Given the description of an element on the screen output the (x, y) to click on. 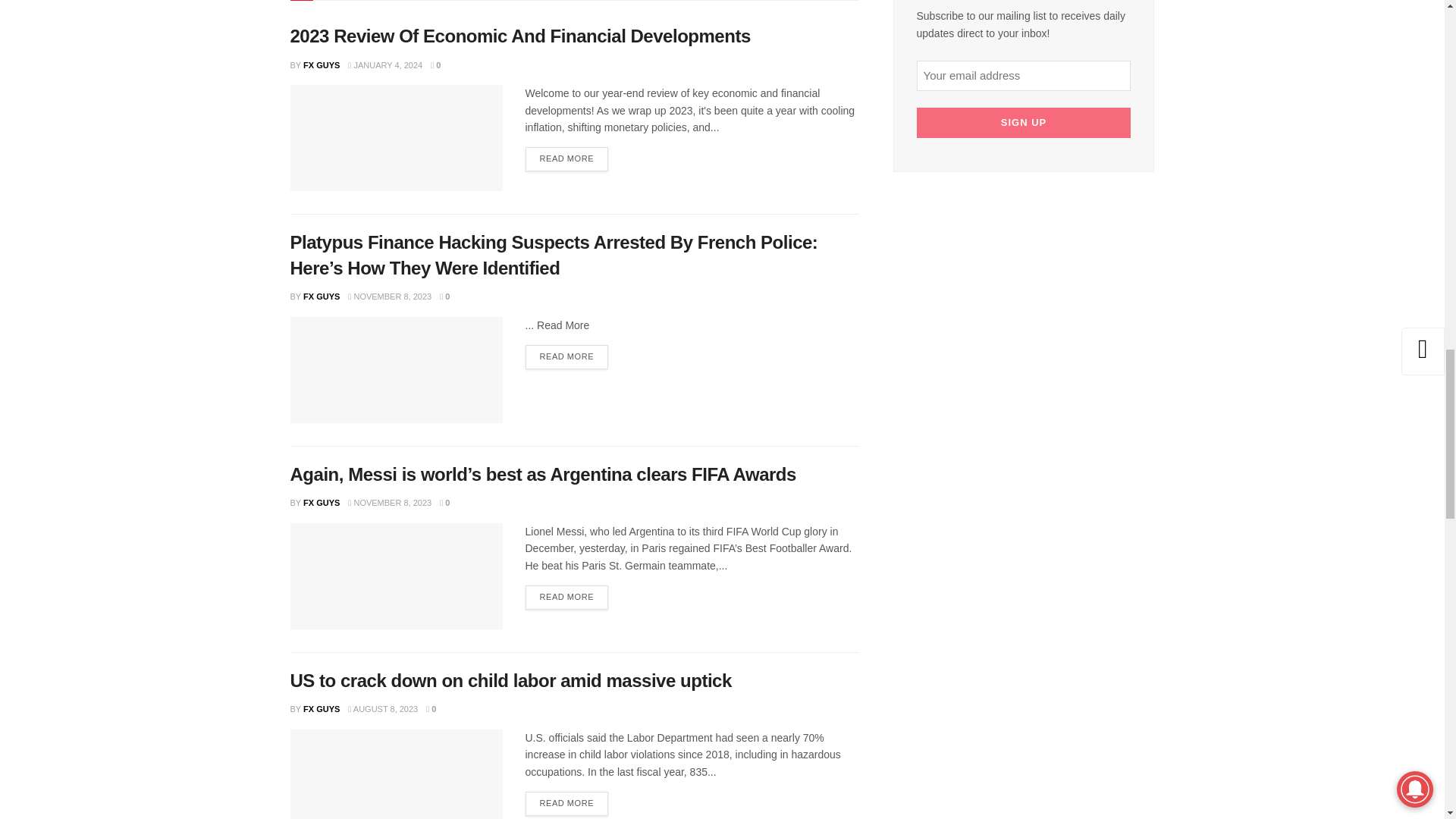
SIGN UP (1023, 122)
